Given the description of an element on the screen output the (x, y) to click on. 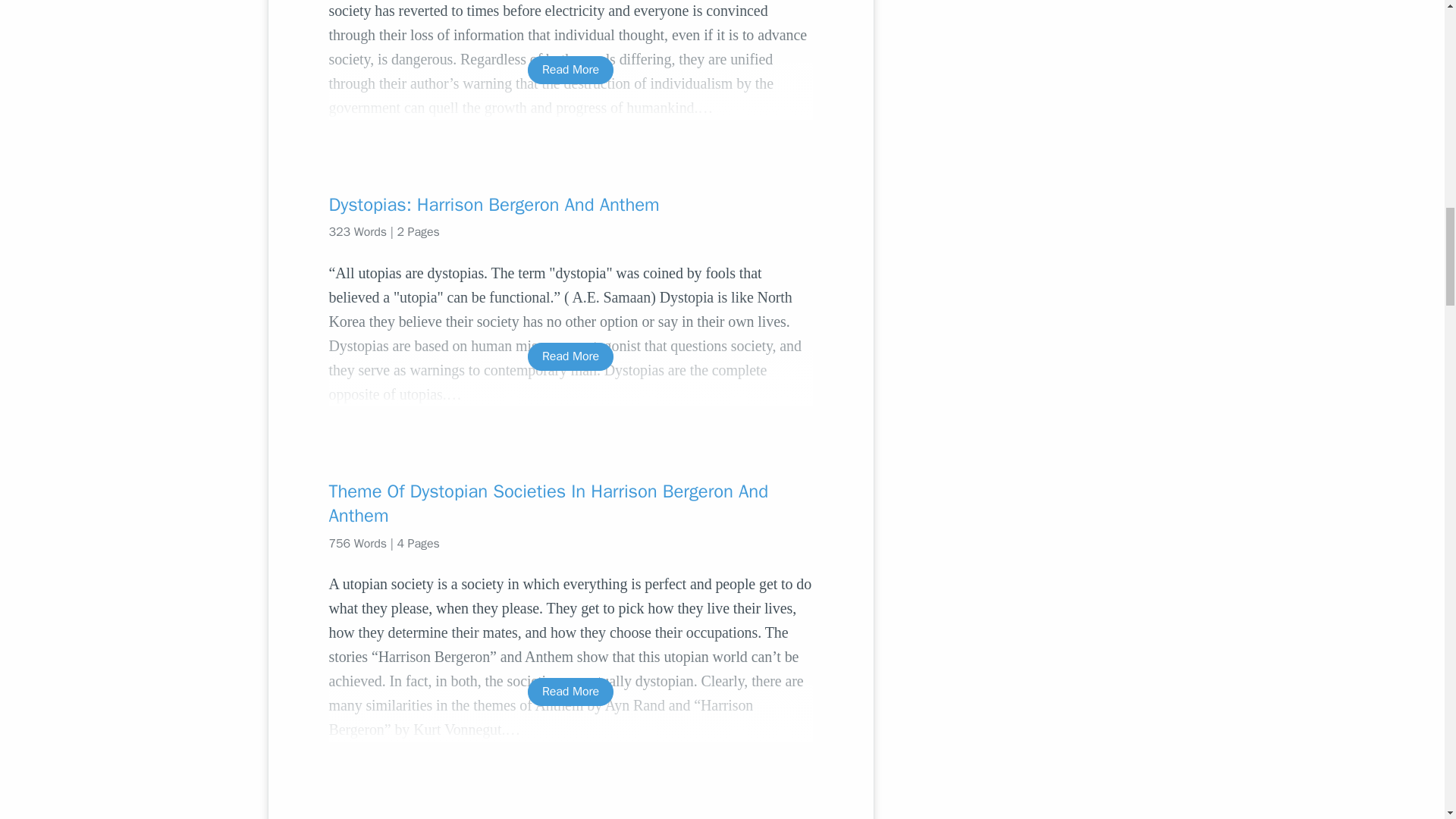
Dystopias: Harrison Bergeron And Anthem (570, 204)
Read More (569, 70)
Theme Of Dystopian Societies In Harrison Bergeron And Anthem (570, 503)
Read More (569, 691)
Read More (569, 357)
